Given the description of an element on the screen output the (x, y) to click on. 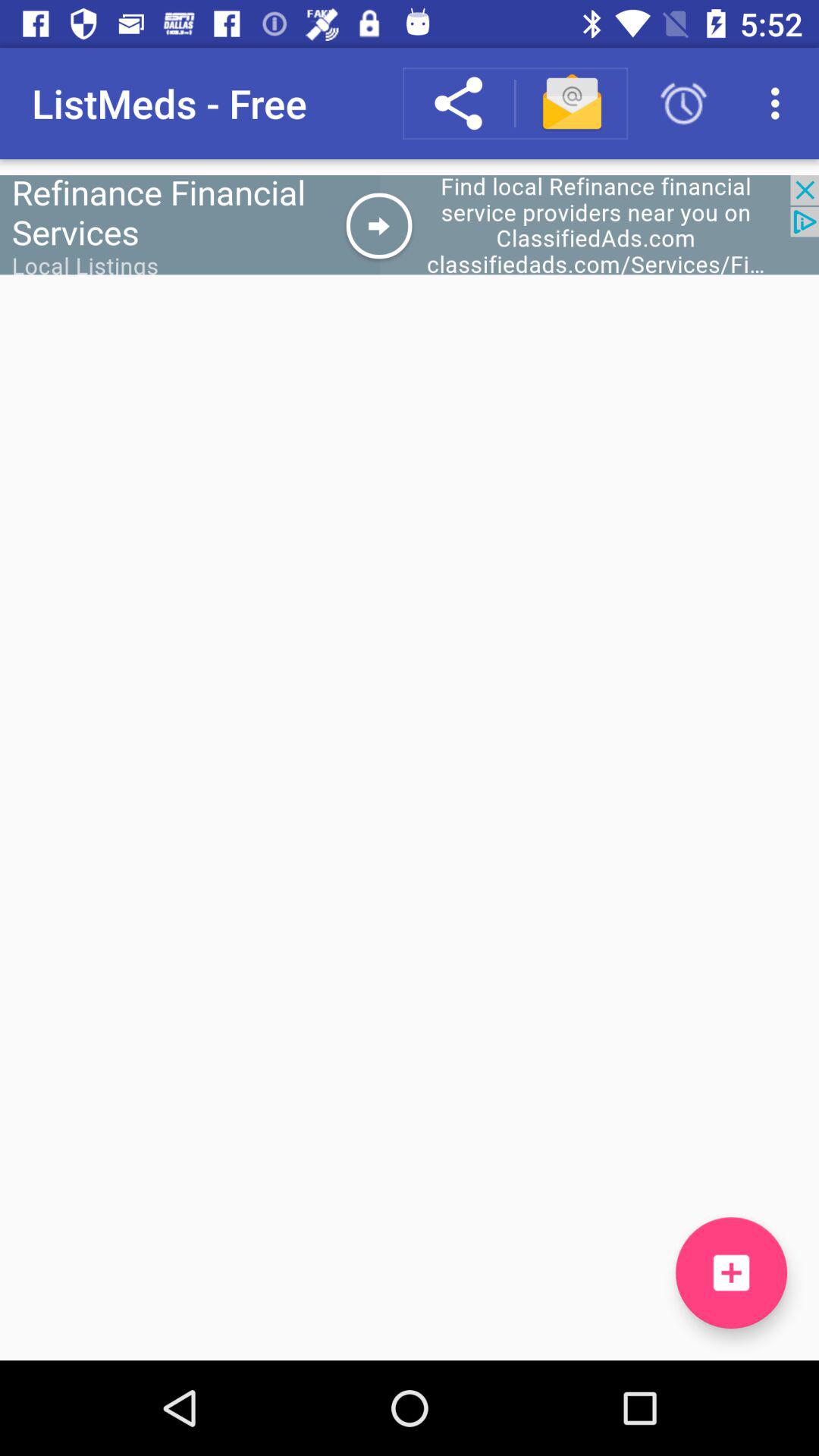
for add (409, 224)
